Given the description of an element on the screen output the (x, y) to click on. 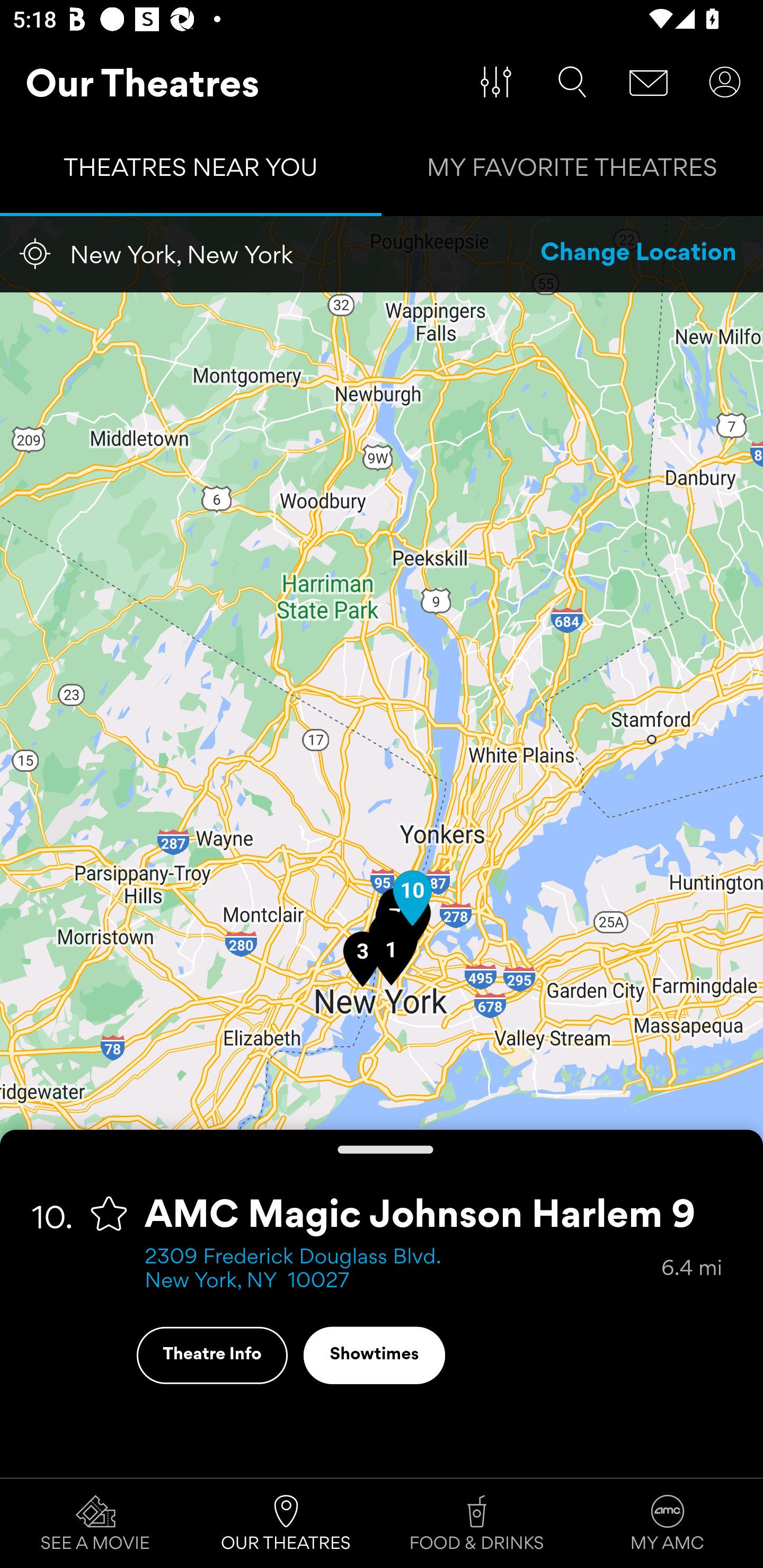
Filter Theatres (495, 82)
Search (572, 82)
Message Center (648, 82)
User Account (724, 82)
THEATRES NEAR YOU
Tab 1 of 2 (190, 171)
MY FAVORITE THEATRES
Tab 2 of 2 (572, 171)
Change Location (639, 253)
Theatre Info (211, 1355)
Showtimes (373, 1355)
SEE A MOVIE
Tab 1 of 4 (95, 1523)
OUR THEATRES
Tab 2 of 4 (285, 1523)
FOOD & DRINKS
Tab 3 of 4 (476, 1523)
MY AMC
Tab 4 of 4 (667, 1523)
